Given the description of an element on the screen output the (x, y) to click on. 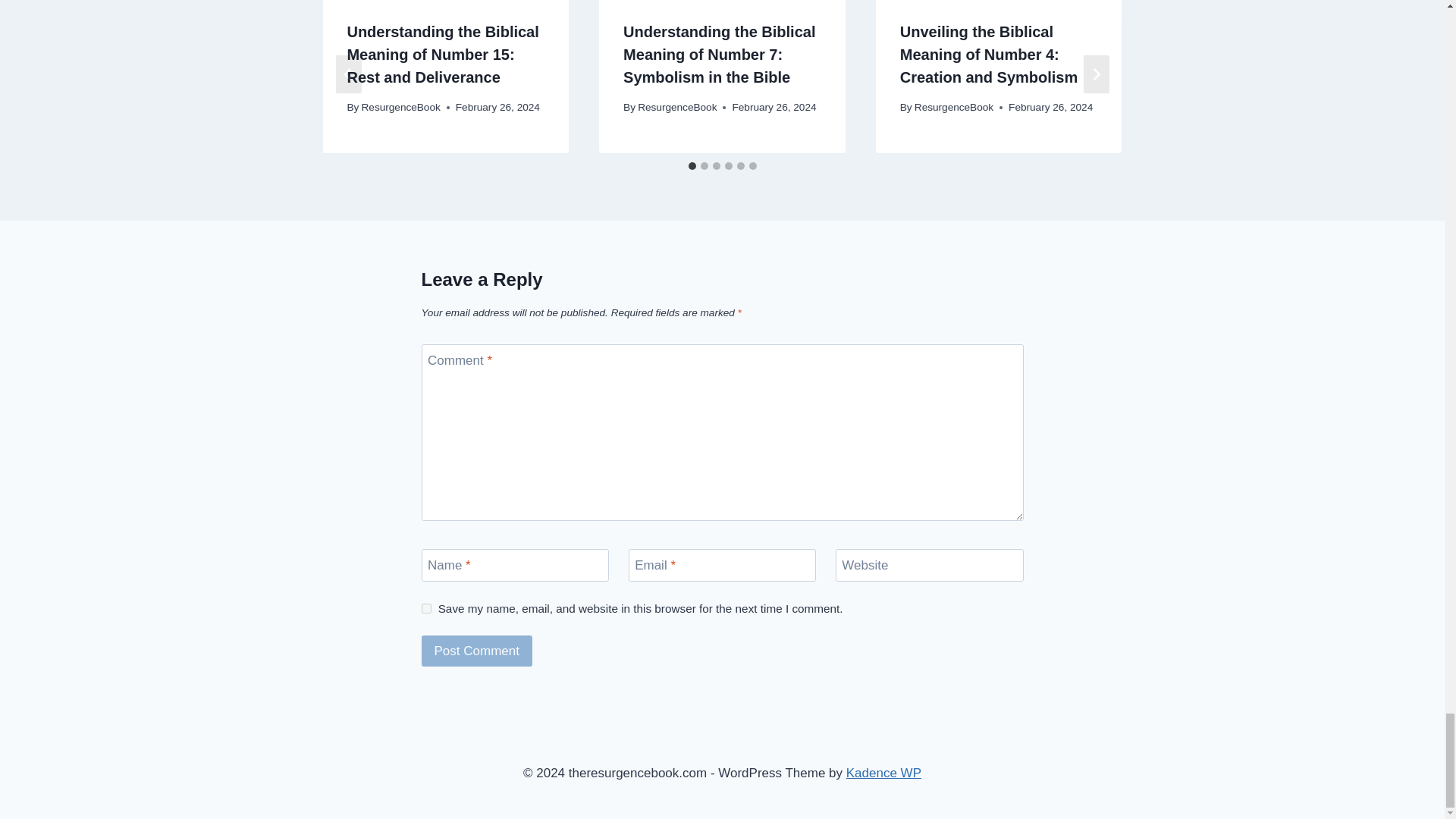
ResurgenceBook (401, 107)
yes (426, 608)
Post Comment (477, 650)
